Given the description of an element on the screen output the (x, y) to click on. 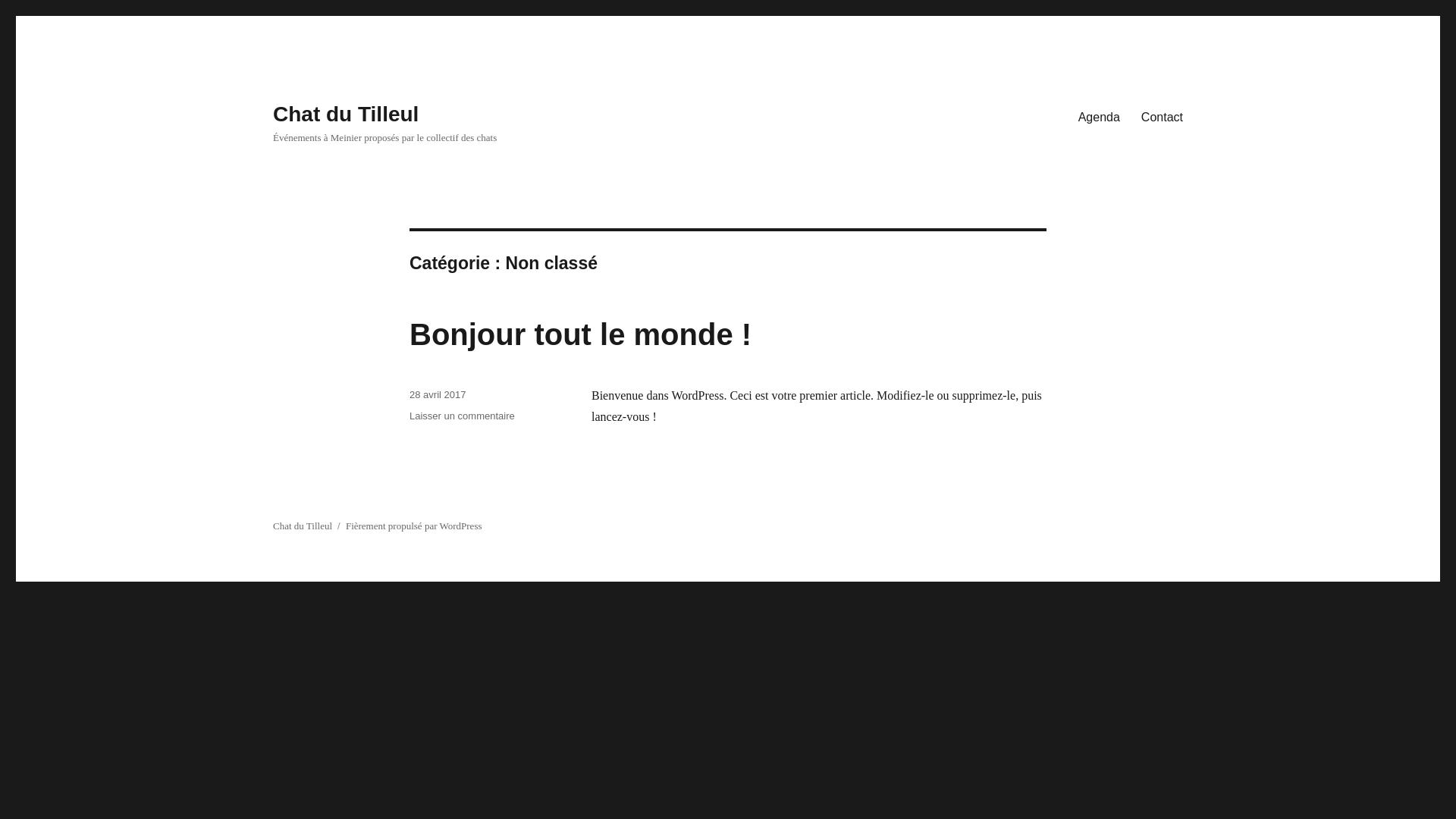
Bonjour tout le monde ! Element type: text (580, 334)
Agenda Element type: text (1098, 116)
Chat du Tilleul Element type: text (345, 113)
28 avril 2017 Element type: text (437, 394)
Chat du Tilleul Element type: text (302, 525)
Contact Element type: text (1161, 116)
Laisser un commentaire
sur Bonjour tout le monde ! Element type: text (461, 415)
